Given the description of an element on the screen output the (x, y) to click on. 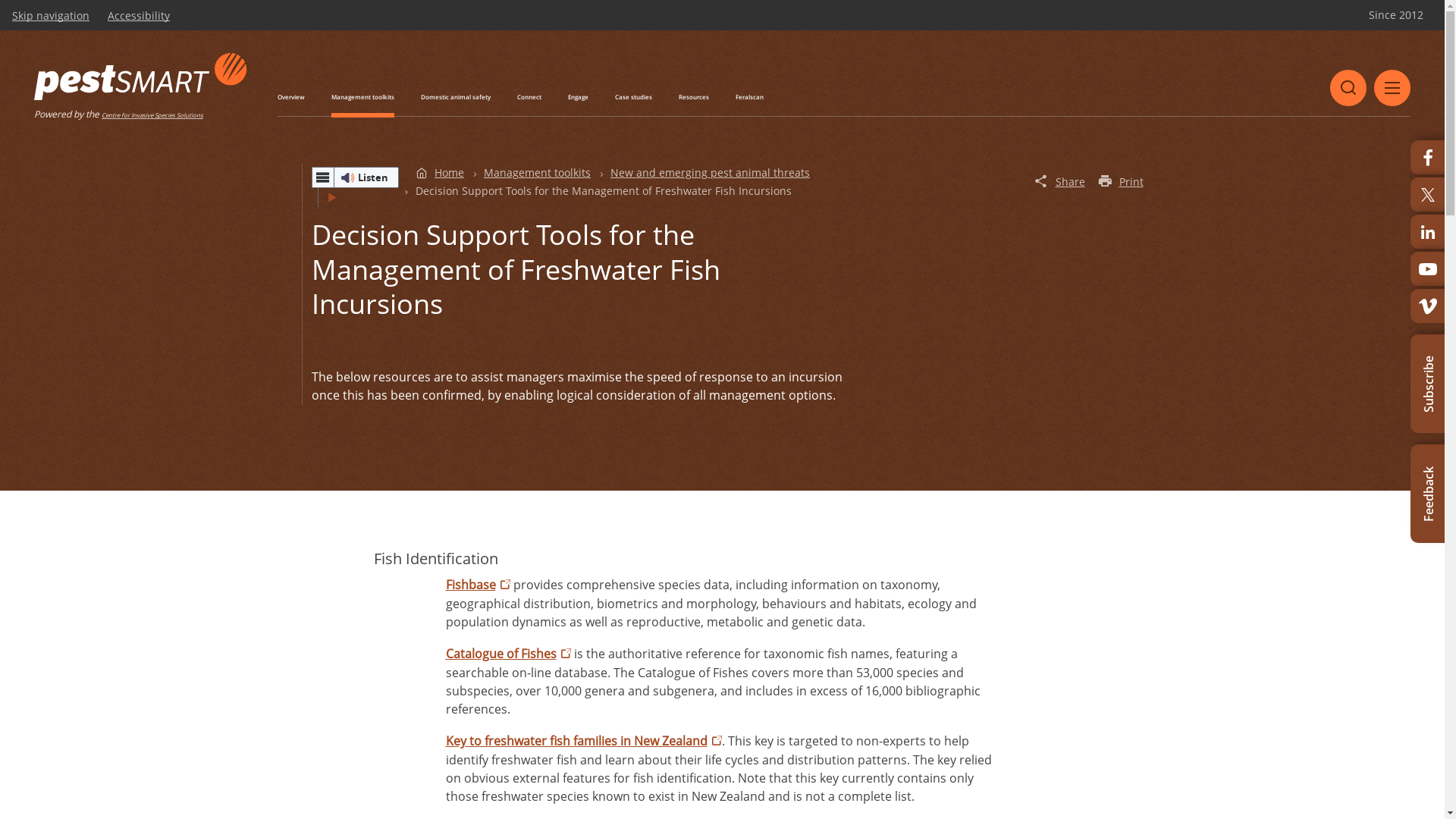
Case studies Element type: text (633, 96)
Fishbase Element type: text (477, 584)
Key to freshwater fish families in New Zealand Element type: text (583, 740)
Management toolkits Element type: text (536, 172)
Home Element type: text (439, 172)
Engage Element type: text (577, 96)
webReader menu Element type: hover (321, 177)
Skip navigation Element type: text (50, 15)
Feralscan Element type: text (749, 96)
Centre for Invasive Species Solutions Element type: text (152, 114)
Connect Element type: text (529, 96)
Menu Element type: hover (1392, 87)
Resources Element type: text (693, 96)
Catalogue of Fishes Element type: text (508, 653)
Search PestSmart website Element type: hover (1348, 87)
Print Element type: text (1120, 180)
Domestic animal safety Element type: text (455, 96)
Overview Element type: text (290, 96)
New and emerging pest animal threats Element type: text (709, 172)
Accessibility Element type: text (138, 15)
Share Element type: text (1059, 180)
Management toolkits Element type: text (362, 96)
Listen Element type: text (354, 177)
